Given the description of an element on the screen output the (x, y) to click on. 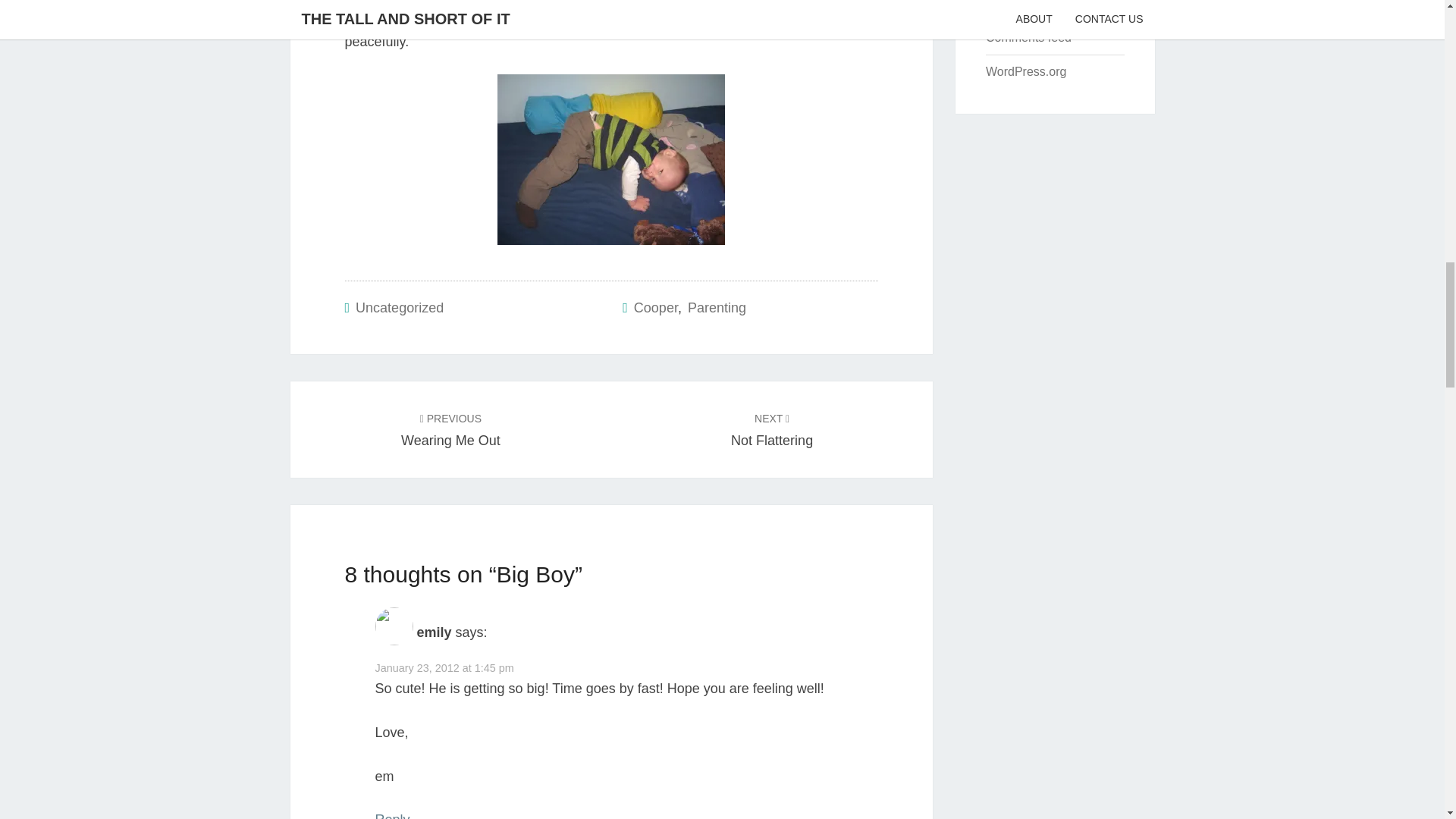
Cooper in the big bed (450, 429)
Uncategorized (611, 159)
Reply (399, 307)
January 23, 2012 at 1:45 pm (391, 815)
Cooper (771, 429)
Parenting (443, 667)
